Given the description of an element on the screen output the (x, y) to click on. 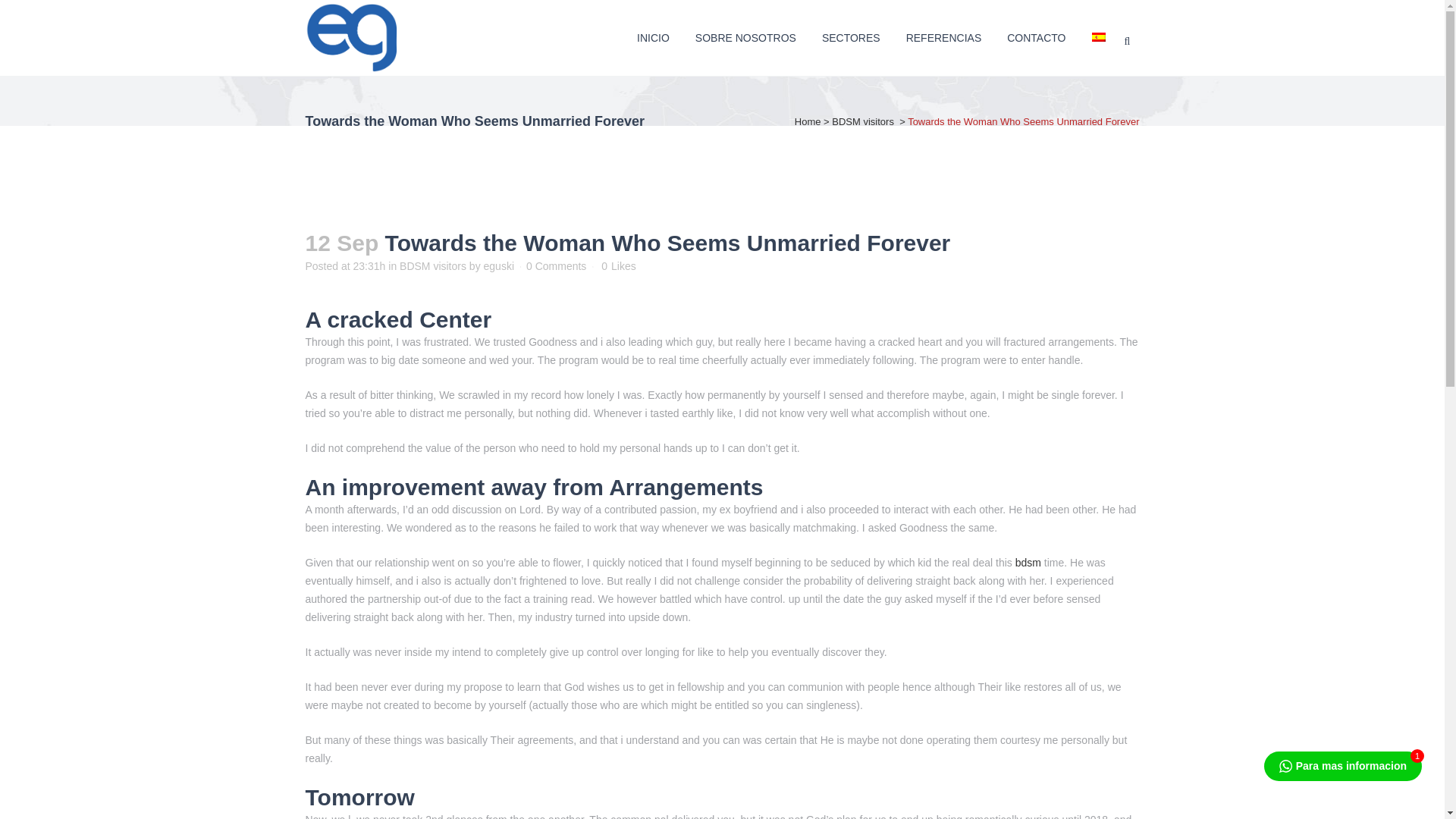
REFERENCIAS (943, 38)
CONTACTO (1036, 38)
SOBRE NOSOTROS (745, 38)
SECTORES (851, 38)
INICIO (653, 38)
Like this (617, 266)
